Given the description of an element on the screen output the (x, y) to click on. 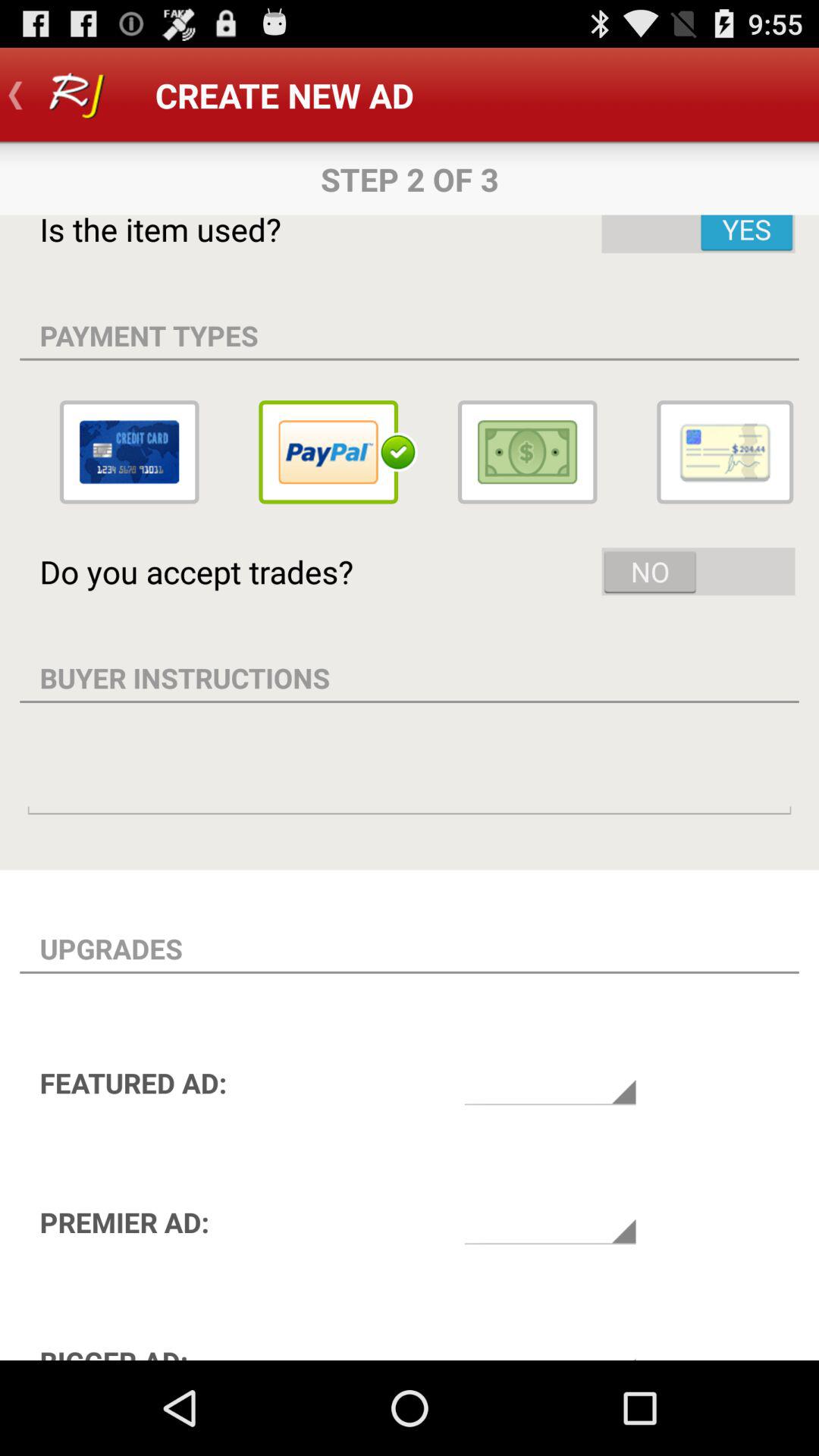
select the 4th payment type under the text payment types (727, 451)
